Given the description of an element on the screen output the (x, y) to click on. 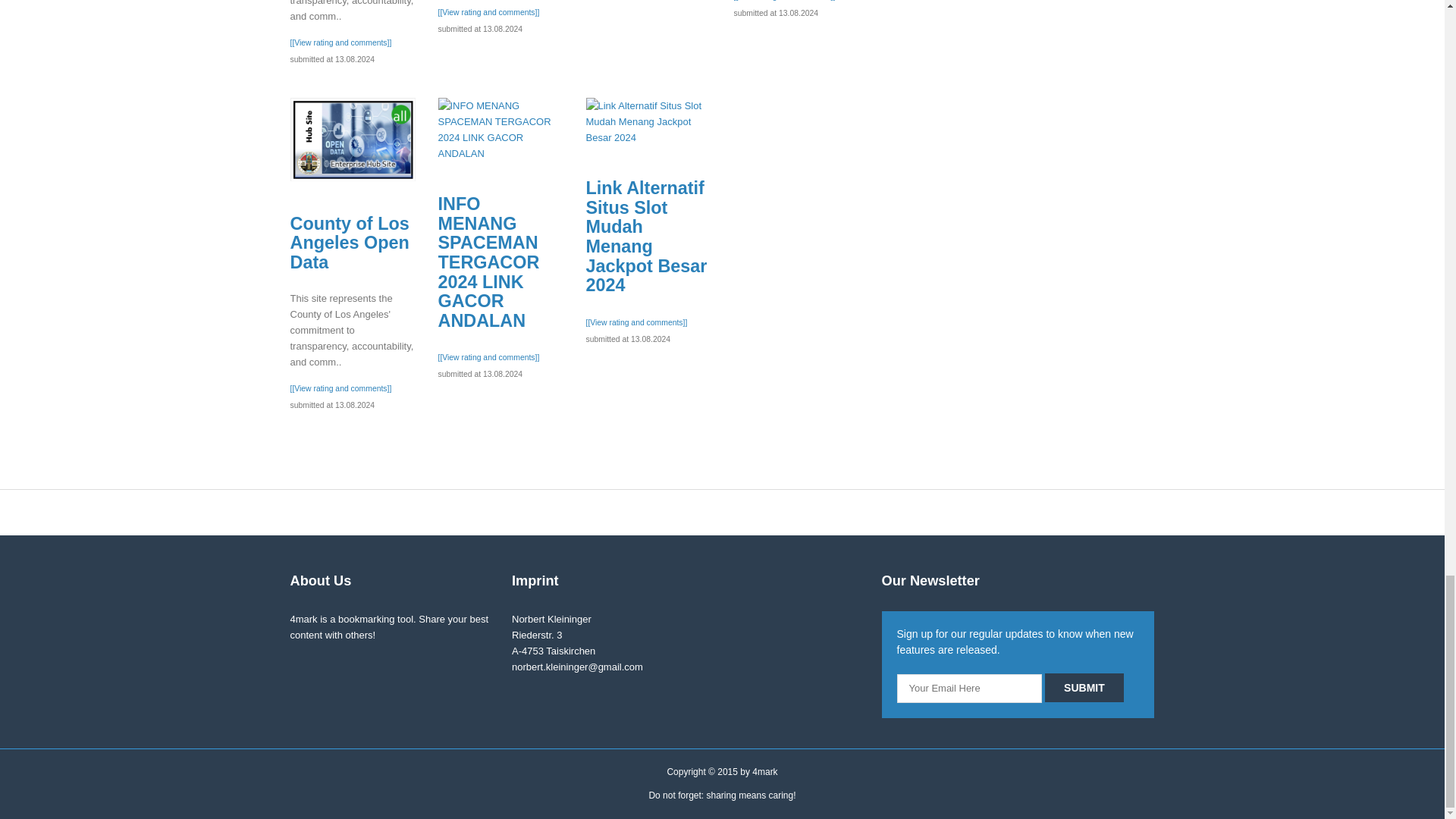
INFO MENANG SPACEMAN TERGACOR 2024 LINK GACOR ANDALAN (500, 129)
Submit (1084, 687)
County of Los Angeles Open Data (351, 138)
Email (969, 688)
Link Alternatif Situs Slot Mudah Menang Jackpot Besar 2024 (647, 121)
